Given the description of an element on the screen output the (x, y) to click on. 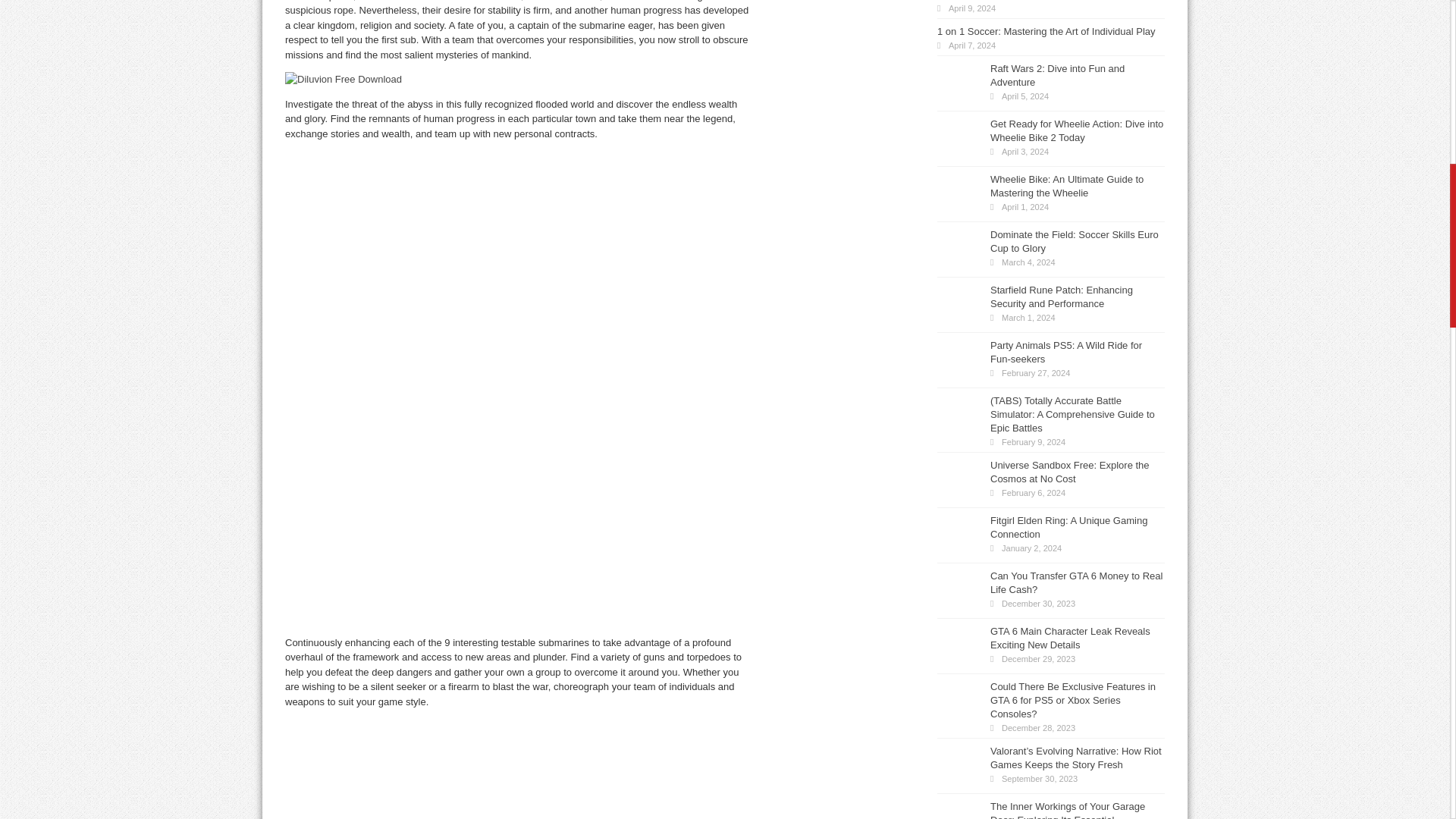
Diluvion Free Download (520, 769)
Diluvion Free Download (343, 79)
